Given the description of an element on the screen output the (x, y) to click on. 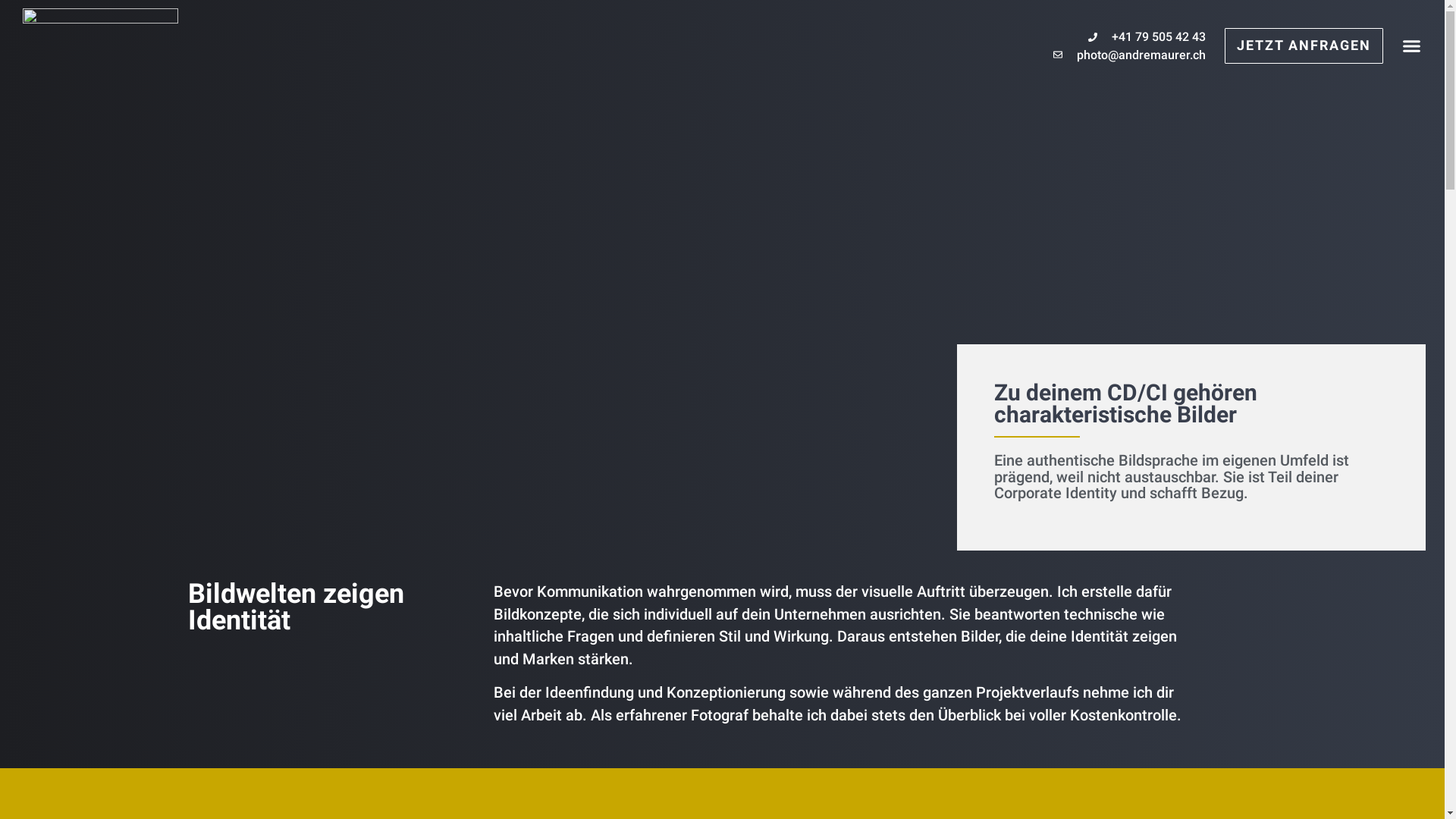
JETZT ANFRAGEN Element type: text (1303, 45)
photo@andremaurer.ch Element type: text (1129, 55)
+41 79 505 42 43 Element type: text (1129, 37)
